Given the description of an element on the screen output the (x, y) to click on. 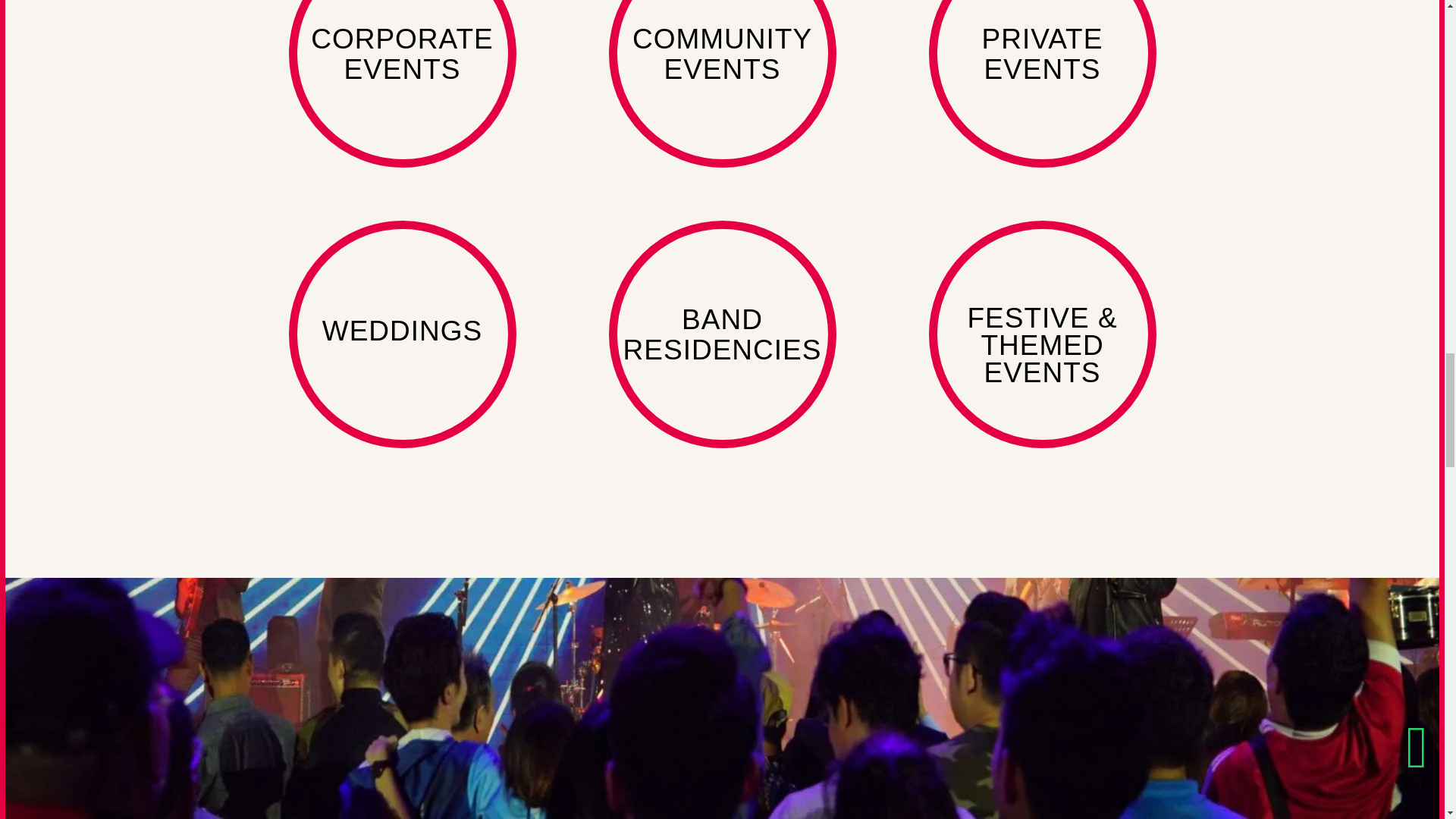
CORPORATE EVENTS (401, 83)
